Given the description of an element on the screen output the (x, y) to click on. 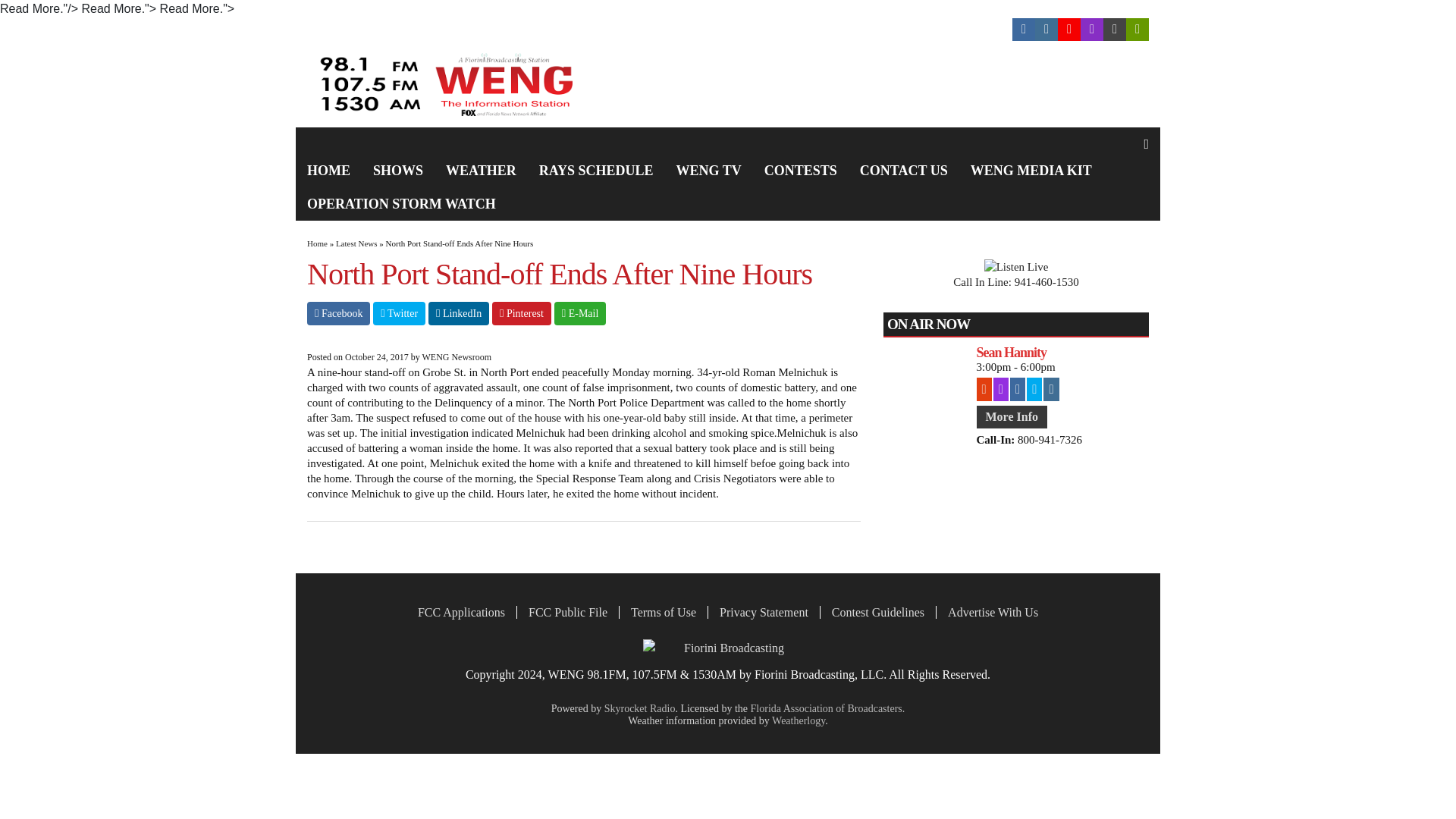
CONTESTS (800, 170)
Sean Hannity (1062, 352)
OPERATION STORM WATCH (400, 203)
RAYS SCHEDULE (596, 170)
Share to Facebook (338, 313)
WEATHER (480, 170)
View all posts by WENG Newsroom (457, 357)
HOME (328, 170)
Submit News (417, 29)
Shop Local (497, 29)
